Given the description of an element on the screen output the (x, y) to click on. 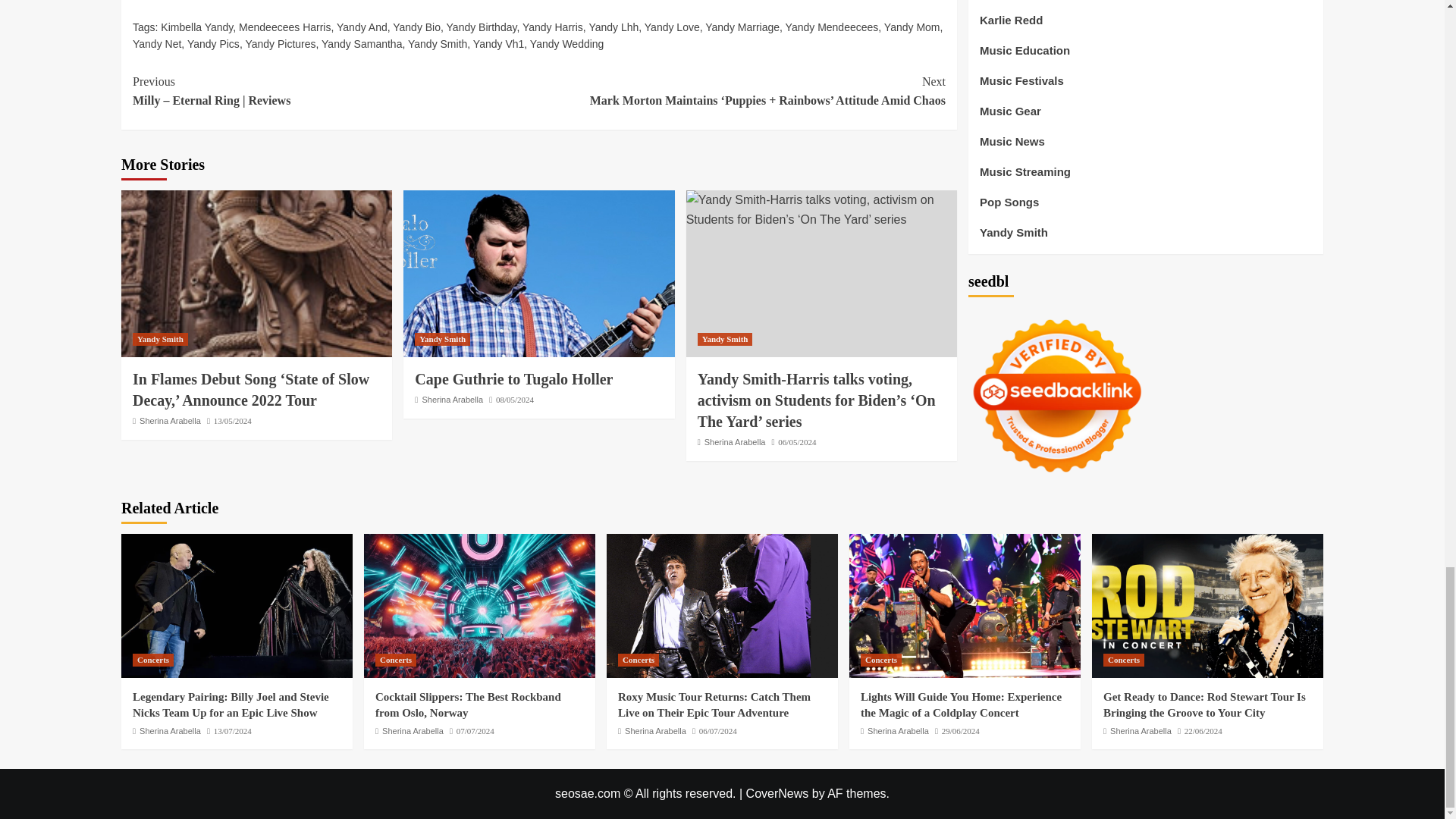
Yandy Marriage (741, 27)
Yandy Lhh (613, 27)
Cape Guthrie to Tugalo Holler (538, 273)
Yandy And (361, 27)
Yandy Harris (552, 27)
Cocktail Slippers: The Best Rockband from Oslo, Norway (479, 605)
Mendeecees Harris (284, 27)
Yandy Love (672, 27)
Kimbella Yandy (196, 27)
Yandy Bio (417, 27)
Yandy Birthday (481, 27)
